Given the description of an element on the screen output the (x, y) to click on. 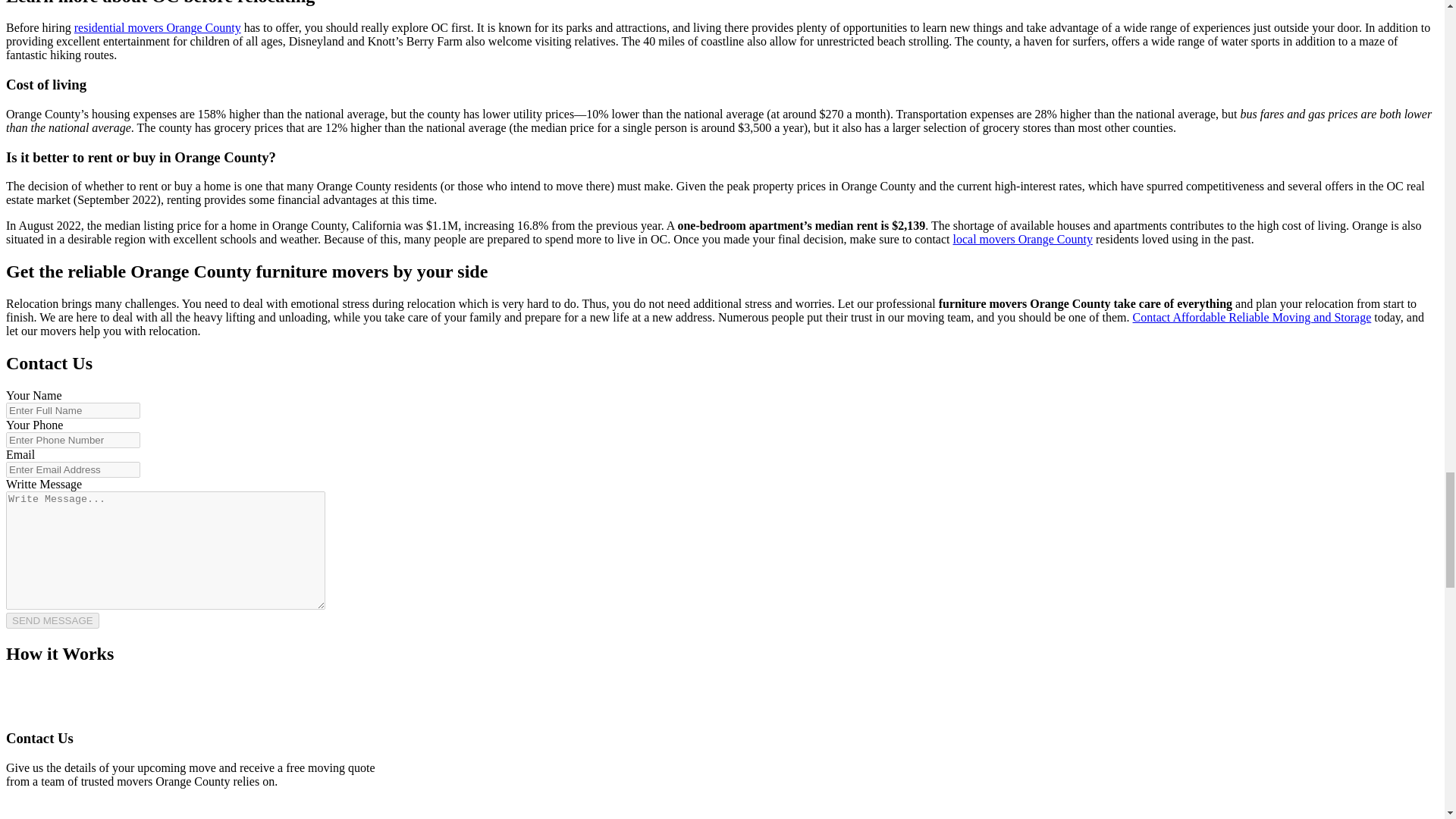
SEND MESSAGE (52, 620)
